Given the description of an element on the screen output the (x, y) to click on. 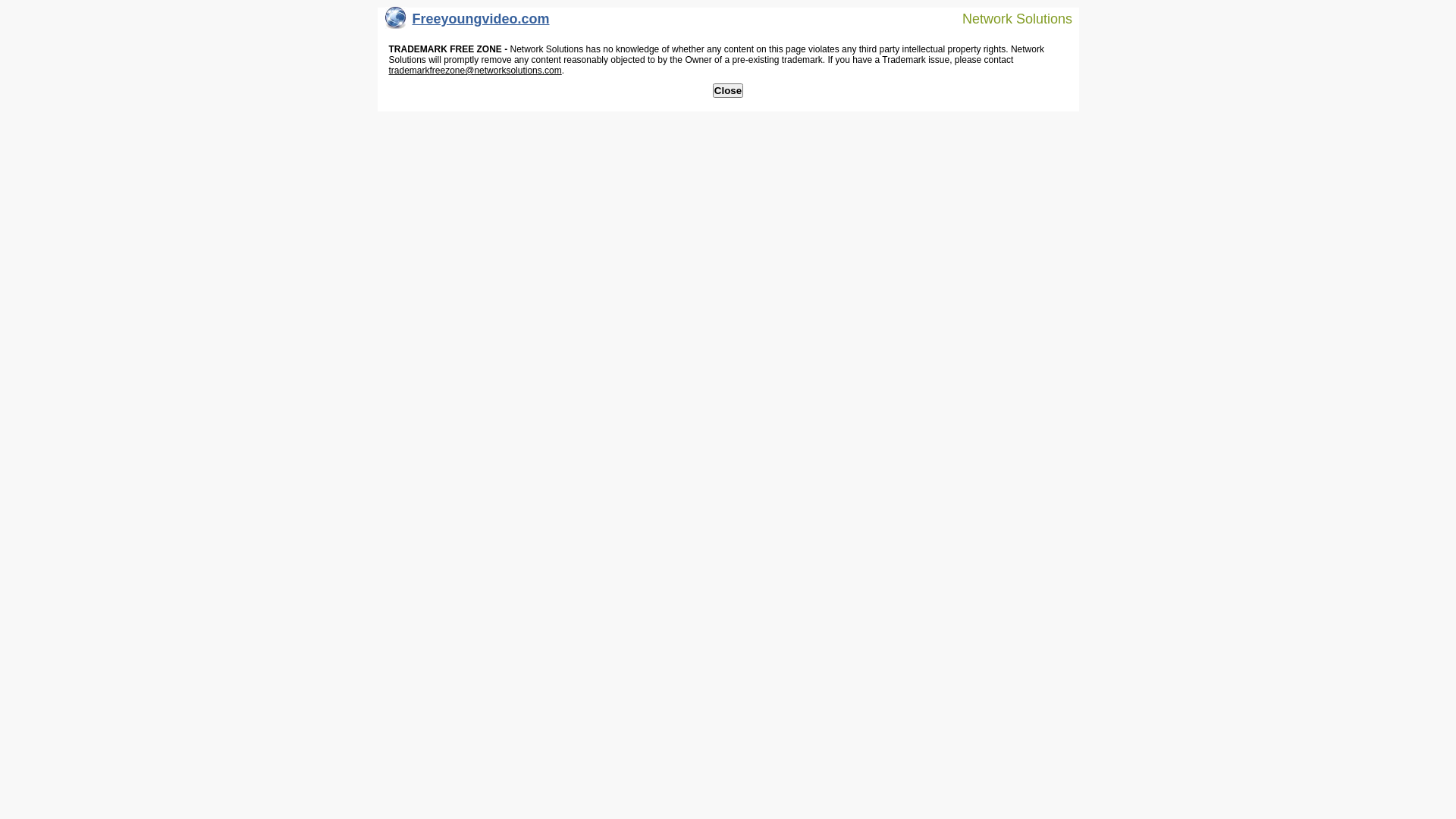
Network Solutions Element type: text (1007, 17)
Close Element type: text (727, 90)
trademarkfreezone@networksolutions.com Element type: text (474, 70)
Freeyoungvideo.com Element type: text (467, 21)
